Given the description of an element on the screen output the (x, y) to click on. 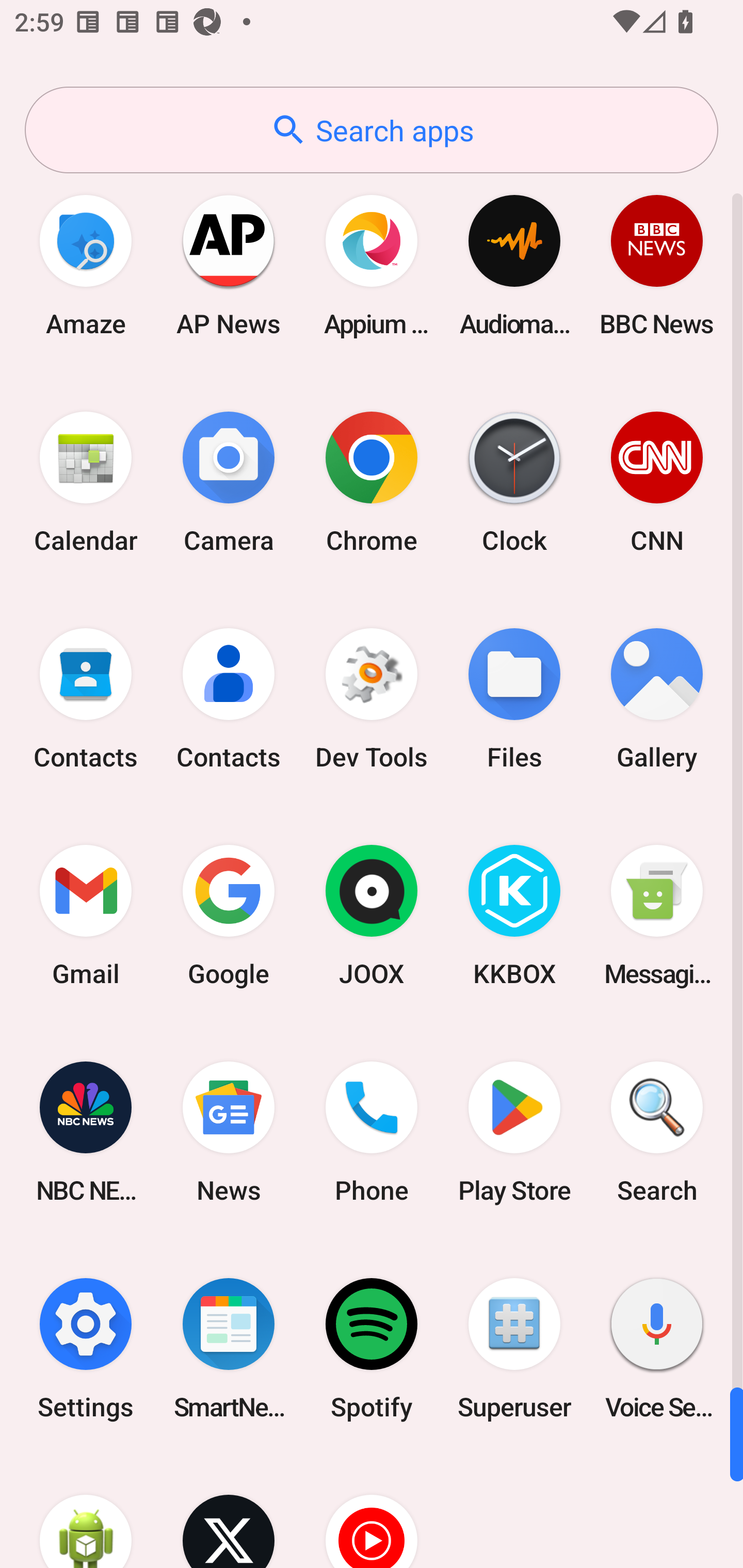
  Search apps (371, 130)
Amaze (85, 264)
AP News (228, 264)
Appium Settings (371, 264)
Audio­mack (514, 264)
BBC News (656, 264)
Calendar (85, 482)
Camera (228, 482)
Chrome (371, 482)
Clock (514, 482)
CNN (656, 482)
Contacts (85, 699)
Contacts (228, 699)
Dev Tools (371, 699)
Files (514, 699)
Gallery (656, 699)
Gmail (85, 915)
Google (228, 915)
JOOX (371, 915)
KKBOX (514, 915)
Messaging (656, 915)
NBC NEWS (85, 1131)
News (228, 1131)
Phone (371, 1131)
Play Store (514, 1131)
Search (656, 1131)
Settings (85, 1348)
SmartNews (228, 1348)
Spotify (371, 1348)
Superuser (514, 1348)
Voice Search (656, 1348)
WebView Browser Tester (85, 1512)
X (228, 1512)
YT Music (371, 1512)
